Given the description of an element on the screen output the (x, y) to click on. 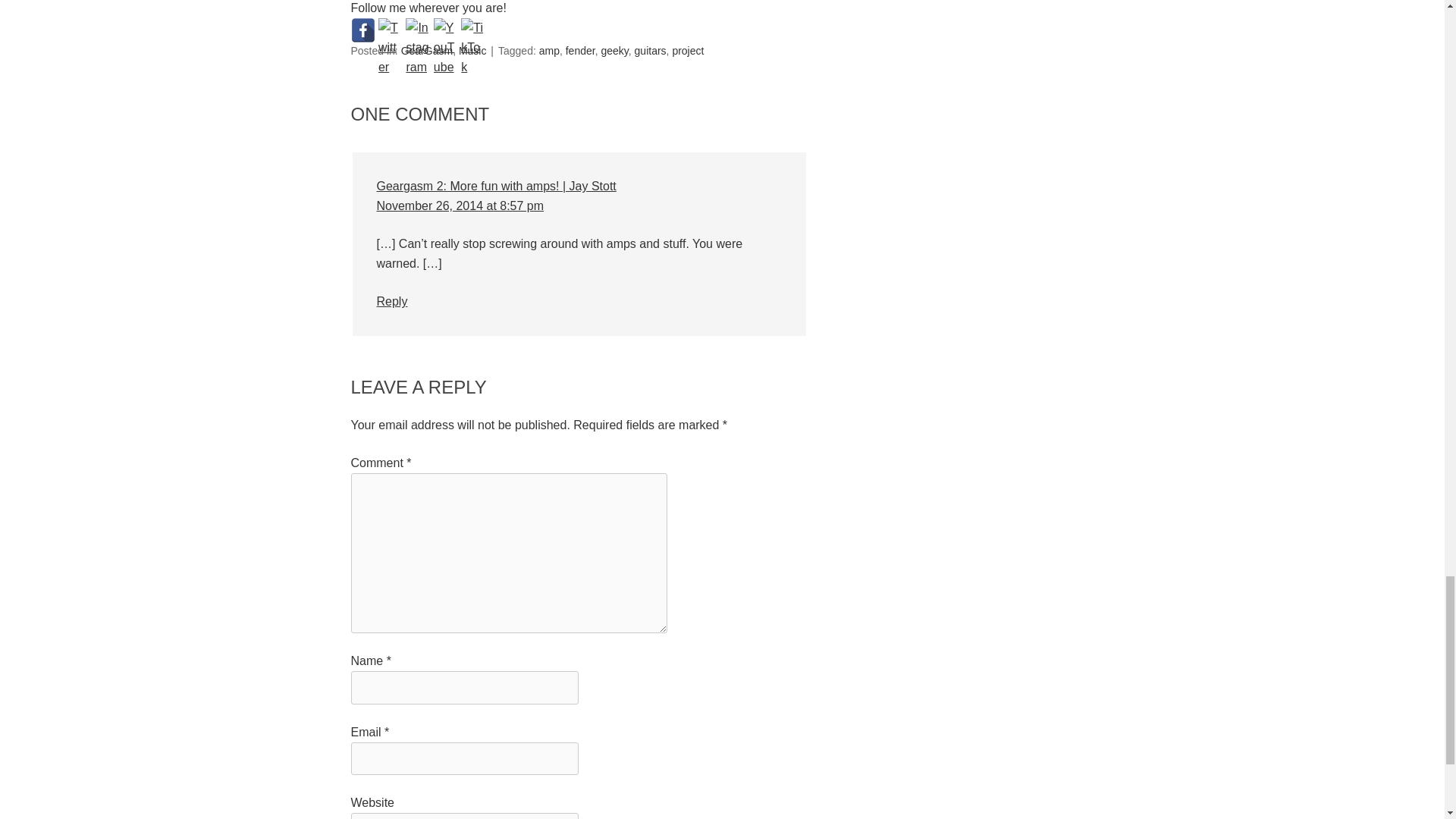
guitars (650, 50)
Reply (391, 300)
Facebook (362, 30)
YouTube (445, 30)
fender (580, 50)
GearGasm (426, 50)
Twitter (390, 30)
geeky (613, 50)
amp (548, 50)
TikTok (472, 30)
